Given the description of an element on the screen output the (x, y) to click on. 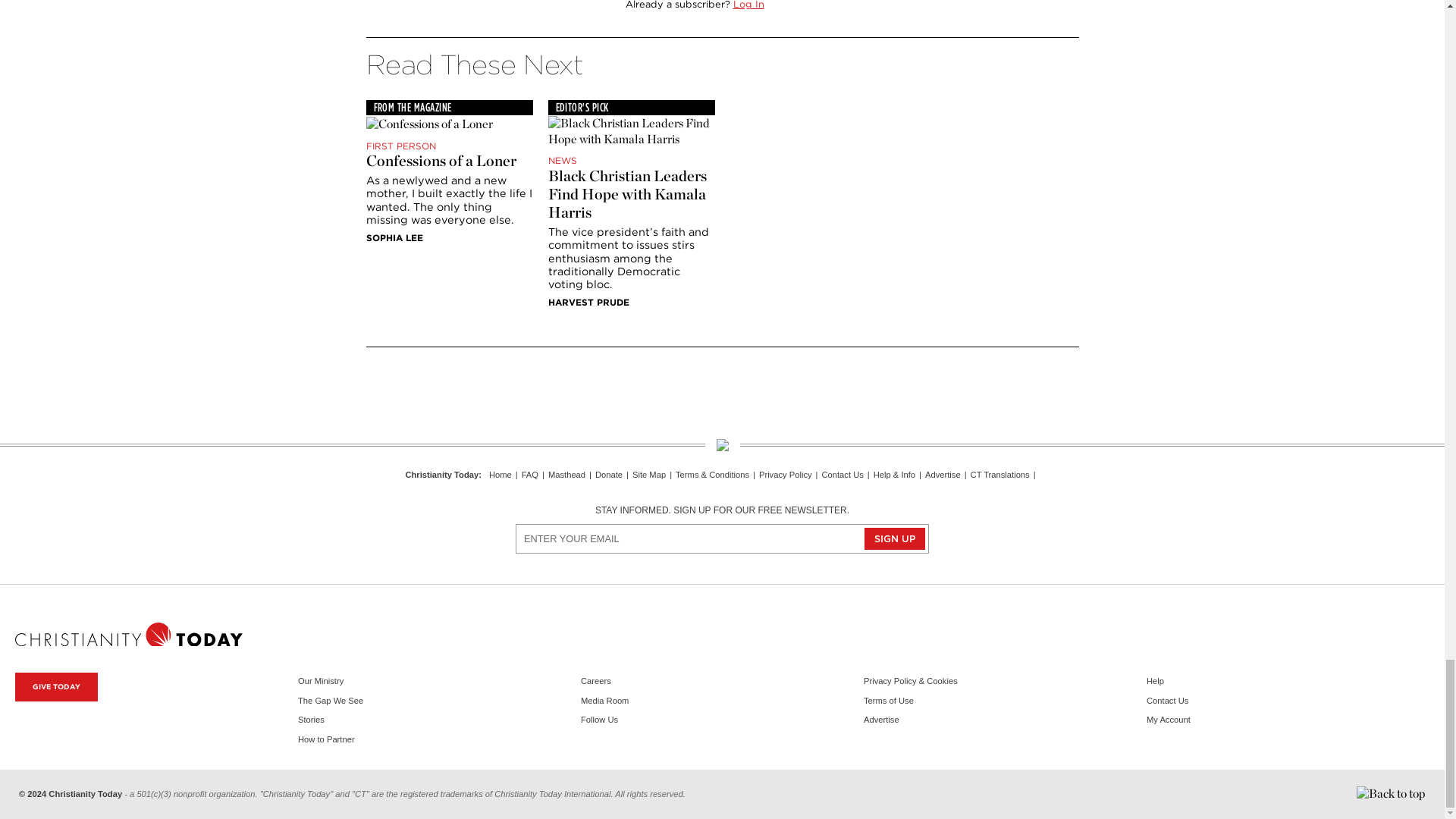
Sign Up (894, 538)
